Given the description of an element on the screen output the (x, y) to click on. 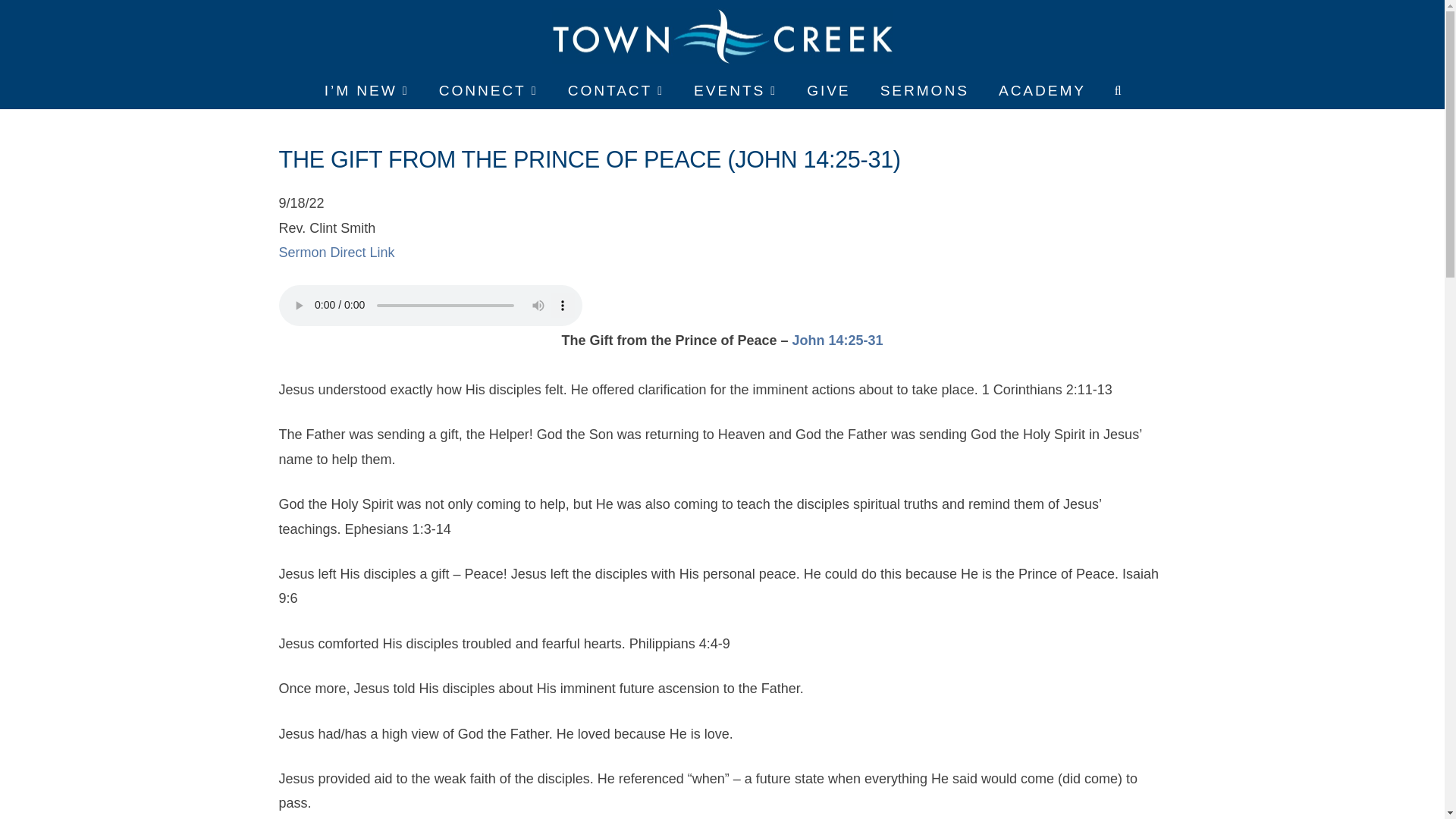
CONTACT (614, 90)
SERMONS (923, 90)
CONNECT (487, 90)
Sermon Direct Link (336, 252)
John 14:25-31 (837, 340)
GIVE (827, 90)
ACADEMY (1040, 90)
EVENTS (734, 90)
